Given the description of an element on the screen output the (x, y) to click on. 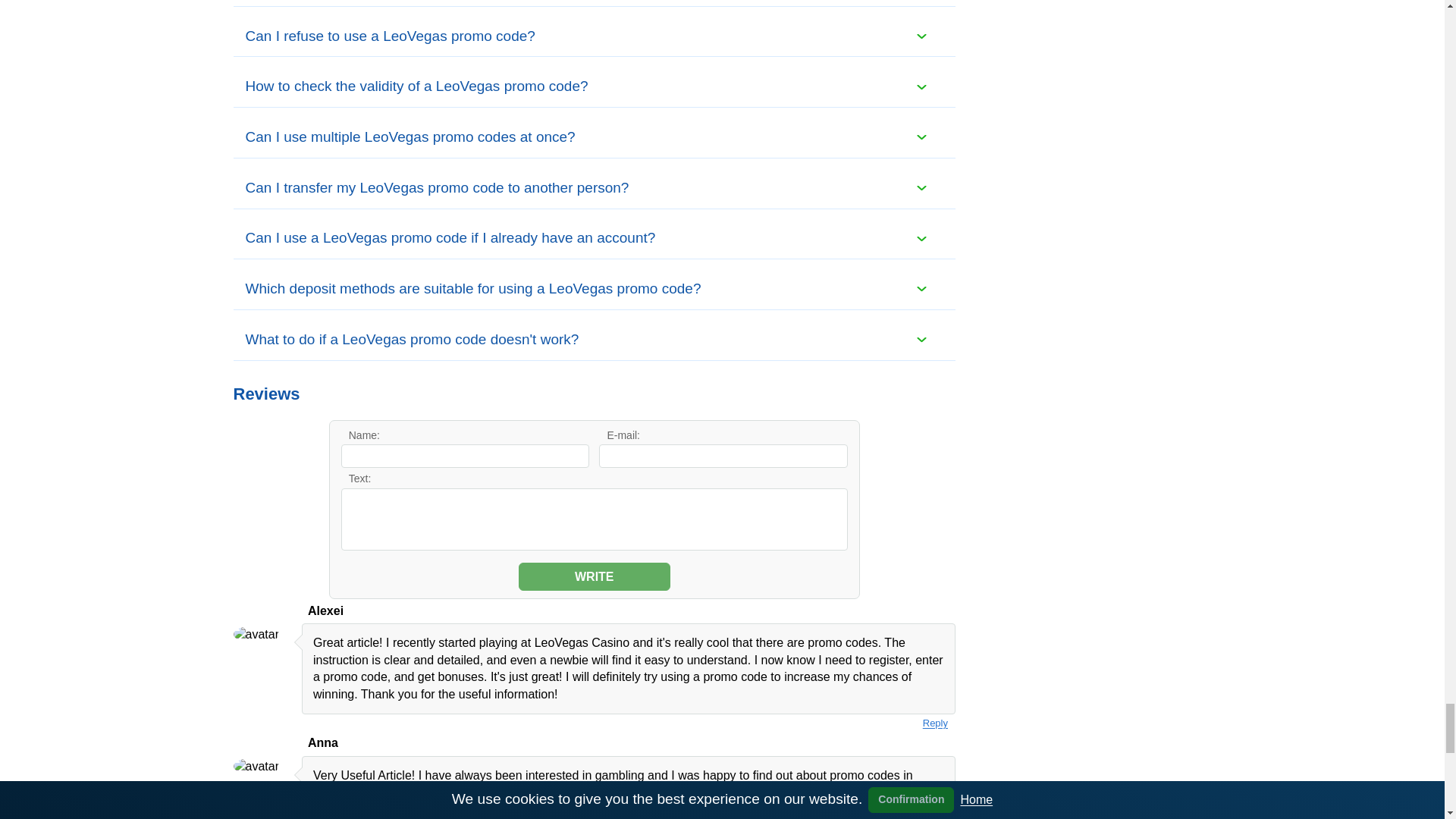
WRITE (593, 576)
